Given the description of an element on the screen output the (x, y) to click on. 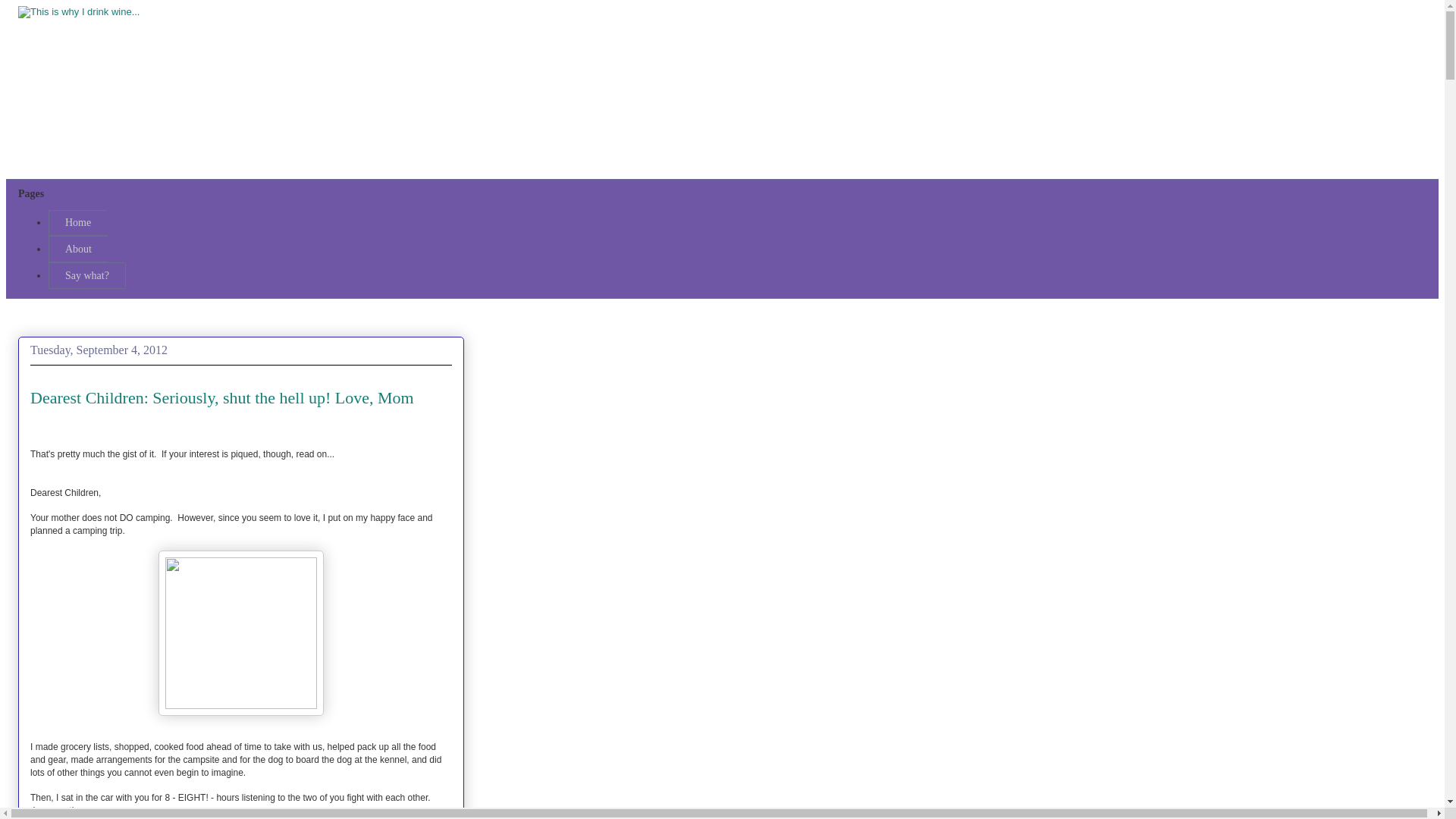
Home (77, 222)
Say what? (86, 275)
About (77, 248)
